Given the description of an element on the screen output the (x, y) to click on. 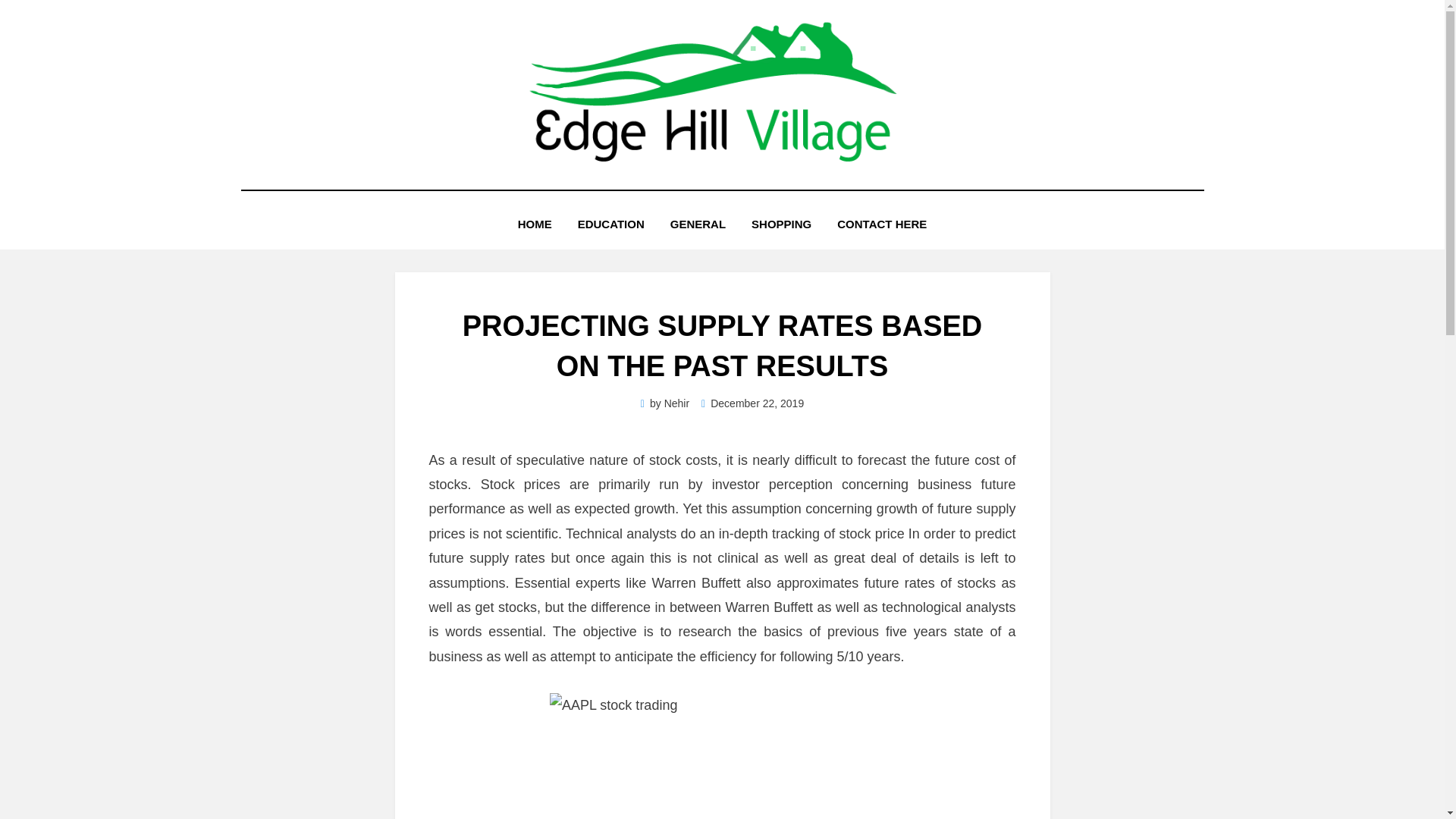
GENERAL (698, 223)
Nehir (675, 403)
CONTACT HERE (881, 223)
December 22, 2019 (752, 403)
HOME (534, 223)
SHOPPING (781, 223)
EDUCATION (611, 223)
